Given the description of an element on the screen output the (x, y) to click on. 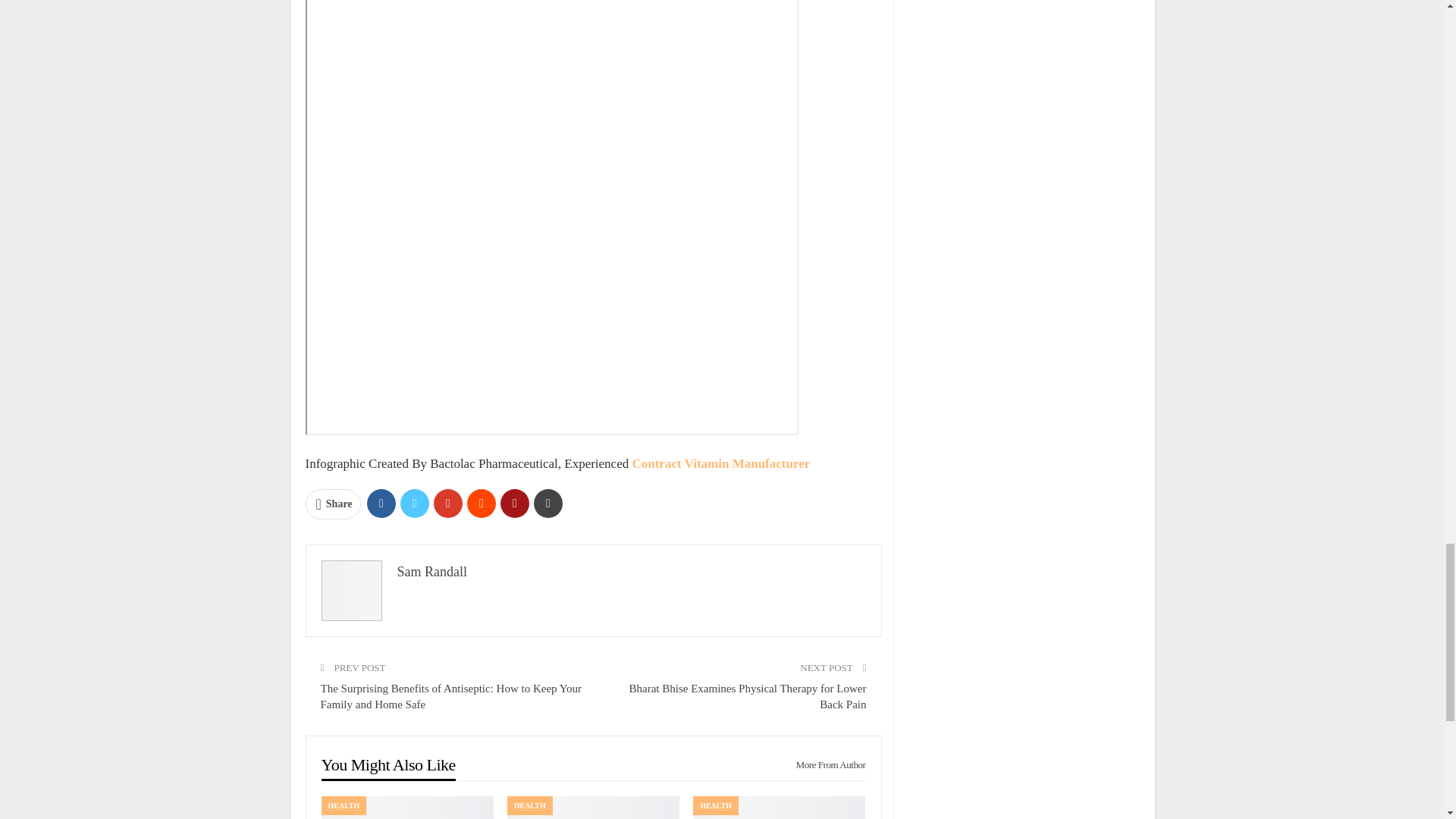
The Ethical Framework of Locum Tenens Practice (592, 807)
How to Make Botox Last Longer: Tips and Tricks (407, 807)
How to Get Rid of Gallbladder Stones Without Surgery? (778, 807)
Contract Vitamin Manufacturer (720, 463)
